Given the description of an element on the screen output the (x, y) to click on. 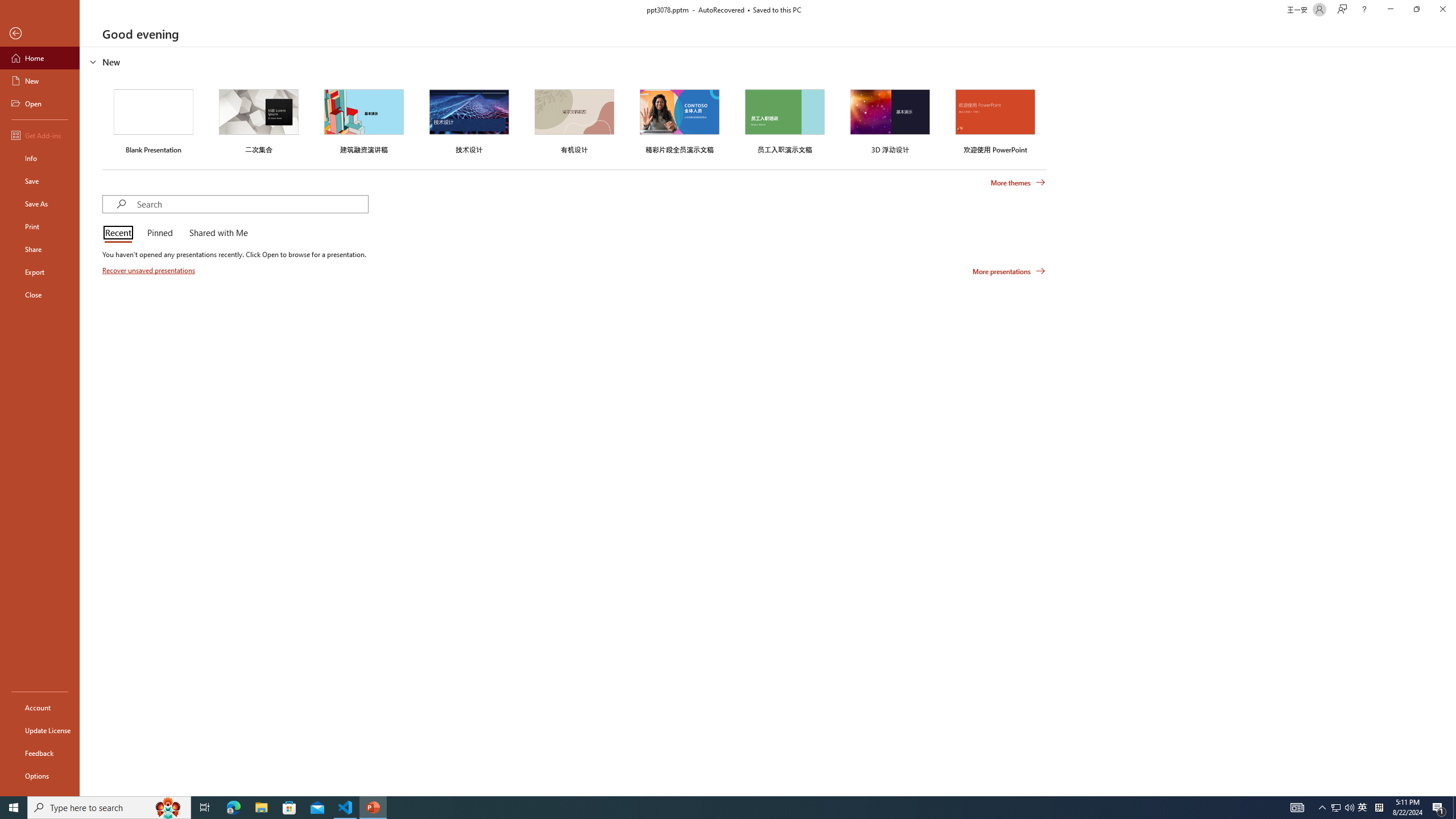
Search (252, 203)
Recent (119, 233)
Pinned (159, 233)
Info (40, 157)
Save As (40, 203)
New (40, 80)
